Given the description of an element on the screen output the (x, y) to click on. 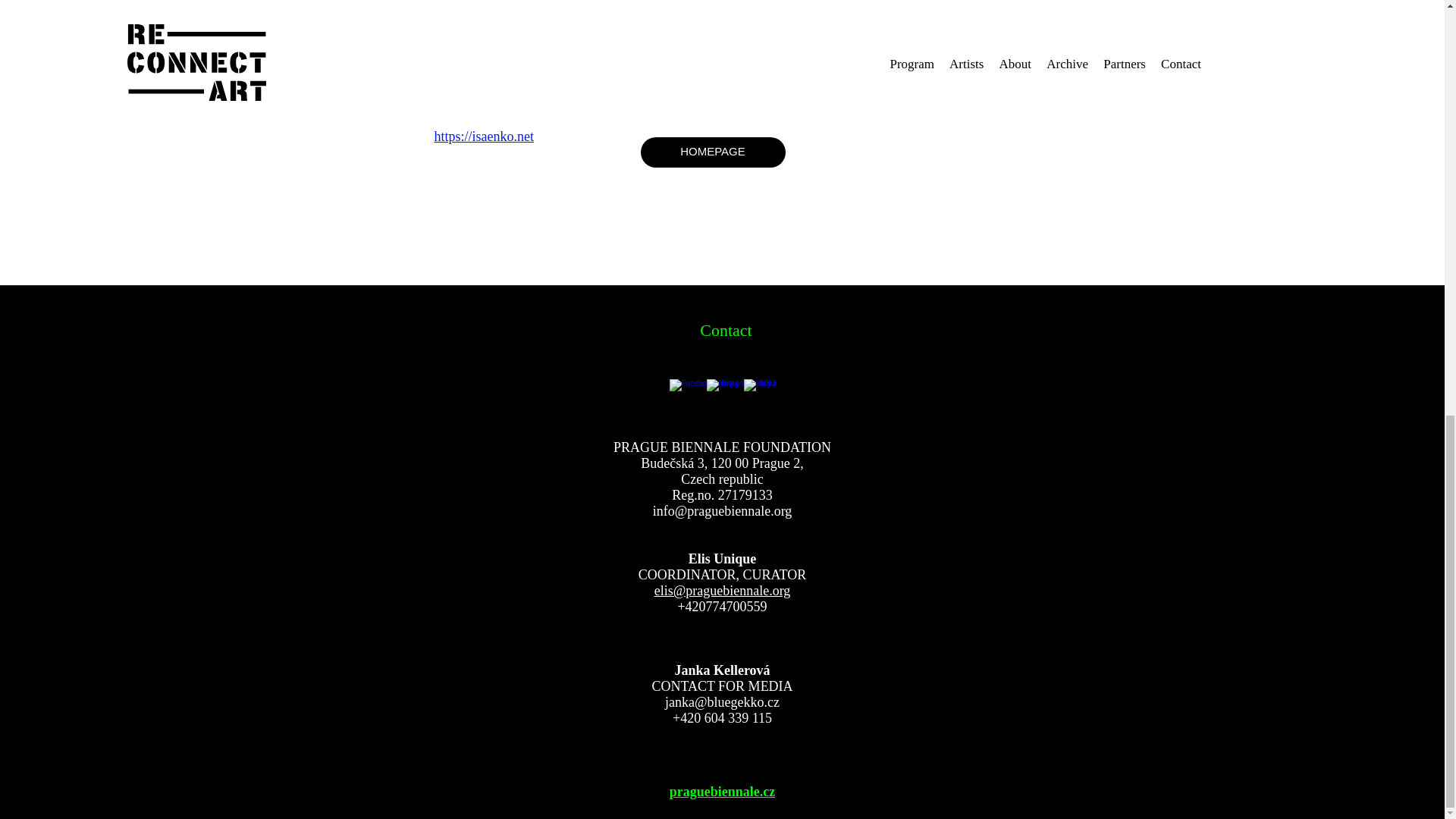
HOMEPAGE (712, 151)
praguebiennale.cz (722, 791)
